Given the description of an element on the screen output the (x, y) to click on. 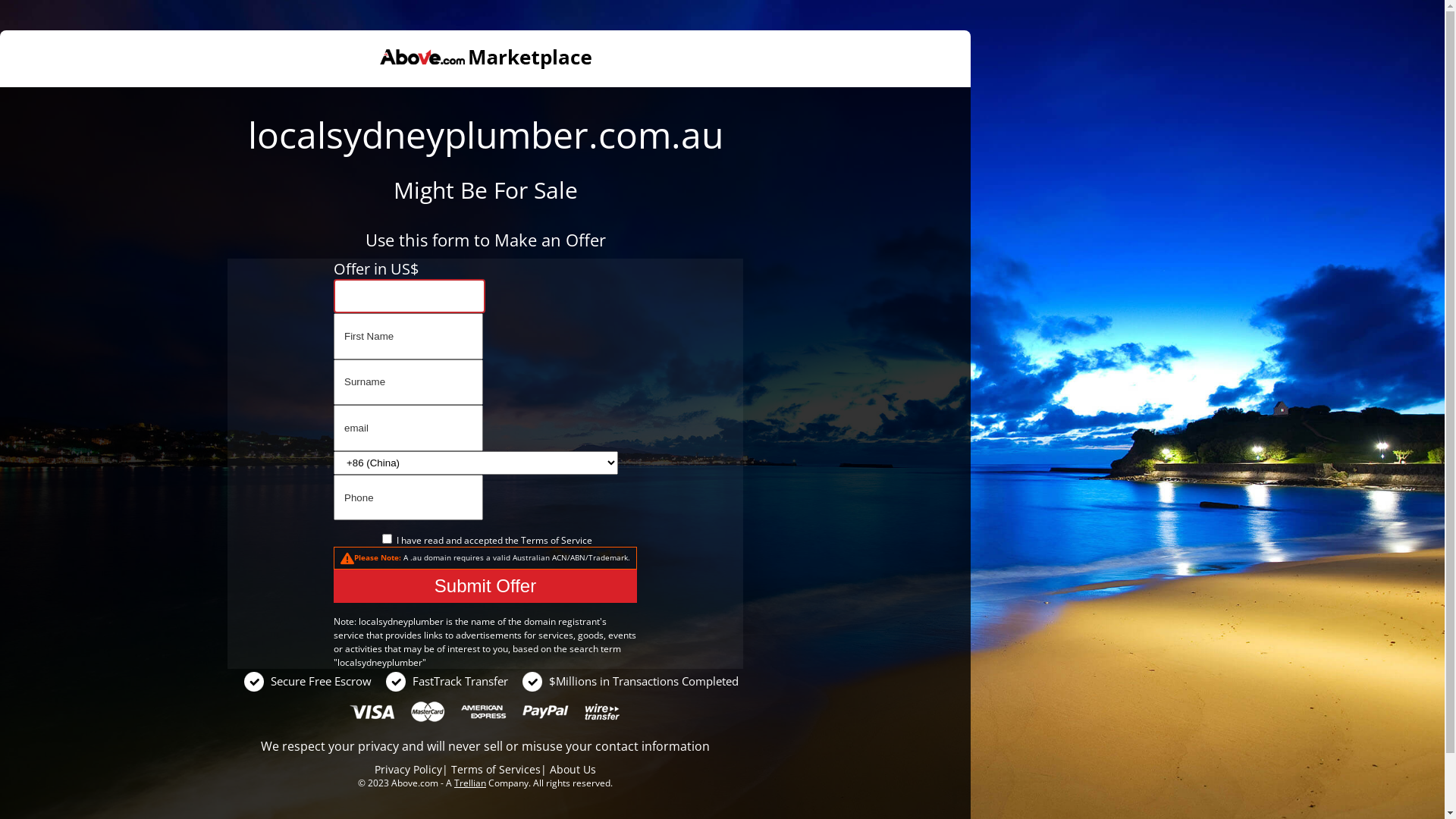
Privacy Policy Element type: text (408, 769)
Terms Element type: text (533, 539)
Trellian Element type: text (470, 782)
Terms of Services Element type: text (495, 769)
About Us Element type: text (572, 769)
Submit Offer Element type: text (485, 585)
